Given the description of an element on the screen output the (x, y) to click on. 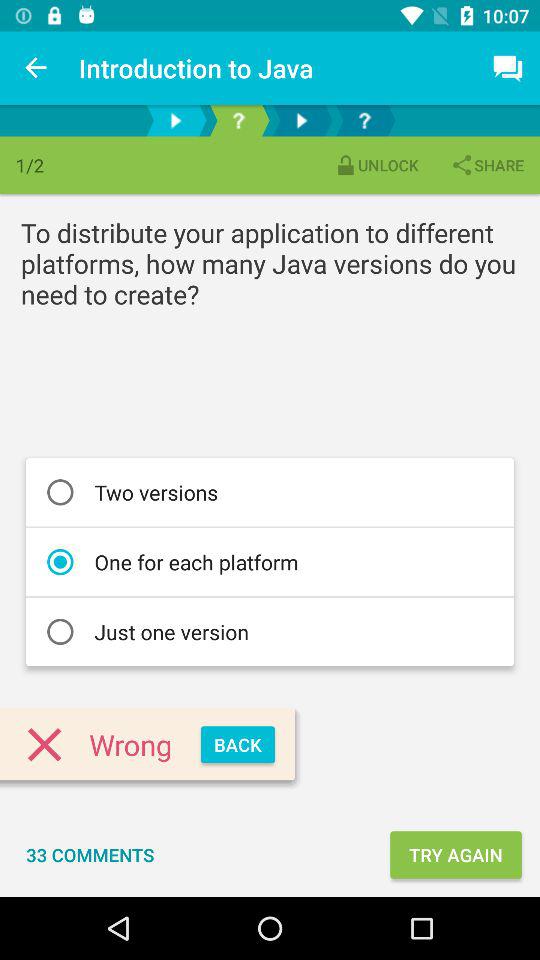
go forward (175, 120)
